Given the description of an element on the screen output the (x, y) to click on. 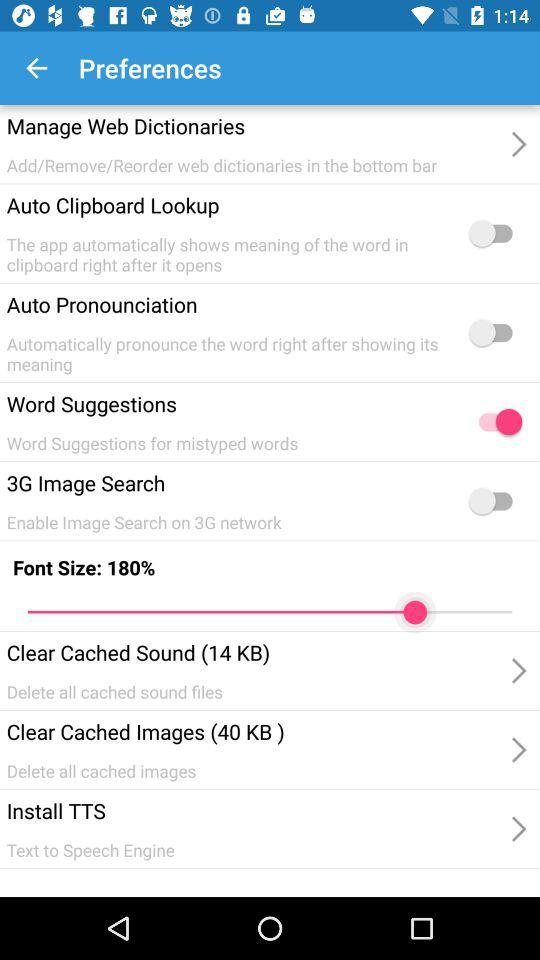
toggle auto clipboard lookup (495, 233)
